Given the description of an element on the screen output the (x, y) to click on. 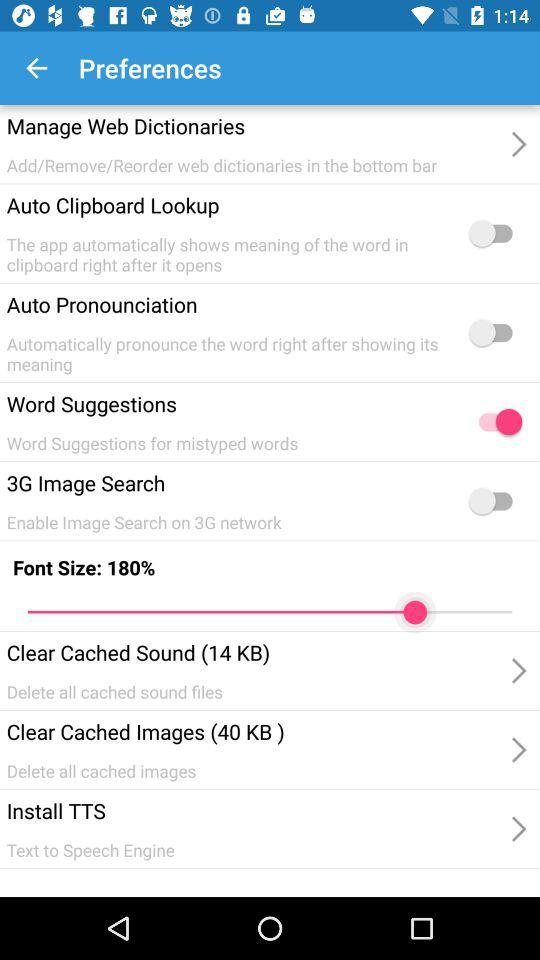
toggle auto clipboard lookup (495, 233)
